Given the description of an element on the screen output the (x, y) to click on. 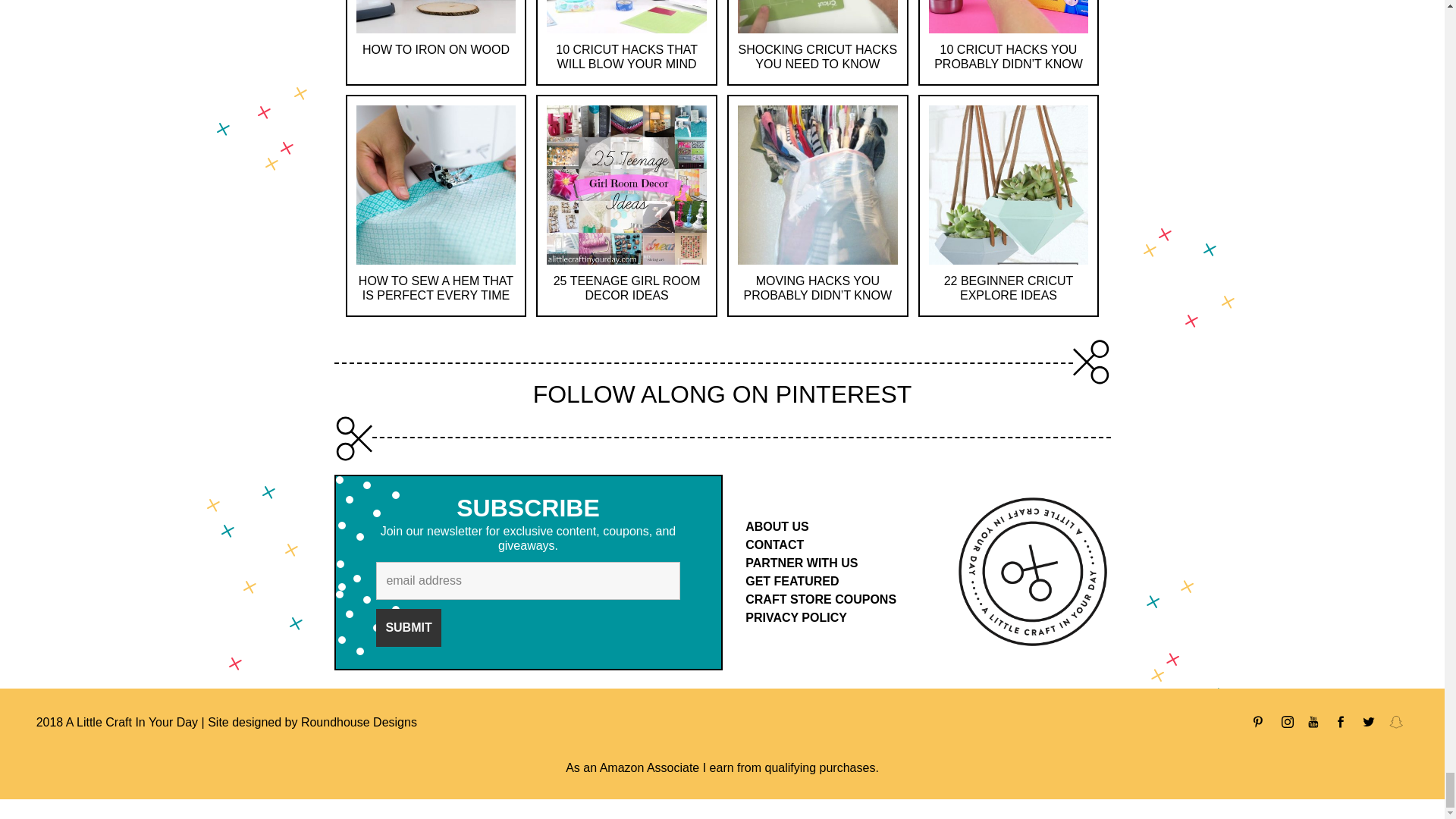
How To Iron On Wood (435, 49)
22 Beginner Cricut Explore Ideas (1008, 288)
25 Teenage Girl Room Decor Ideas (626, 183)
10 Cricut Hacks That Will Blow Your Mind (626, 56)
25 Teenage Girl Room Decor Ideas (626, 288)
22 Beginner Cricut Explore Ideas (1007, 183)
How to Sew a Hem That Is Perfect Every Time (435, 183)
How to Sew a Hem That Is Perfect Every Time (435, 288)
Shocking Cricut Hacks You Need To Know (818, 56)
Submit (408, 628)
alciyd-stamp (1032, 572)
